Given the description of an element on the screen output the (x, y) to click on. 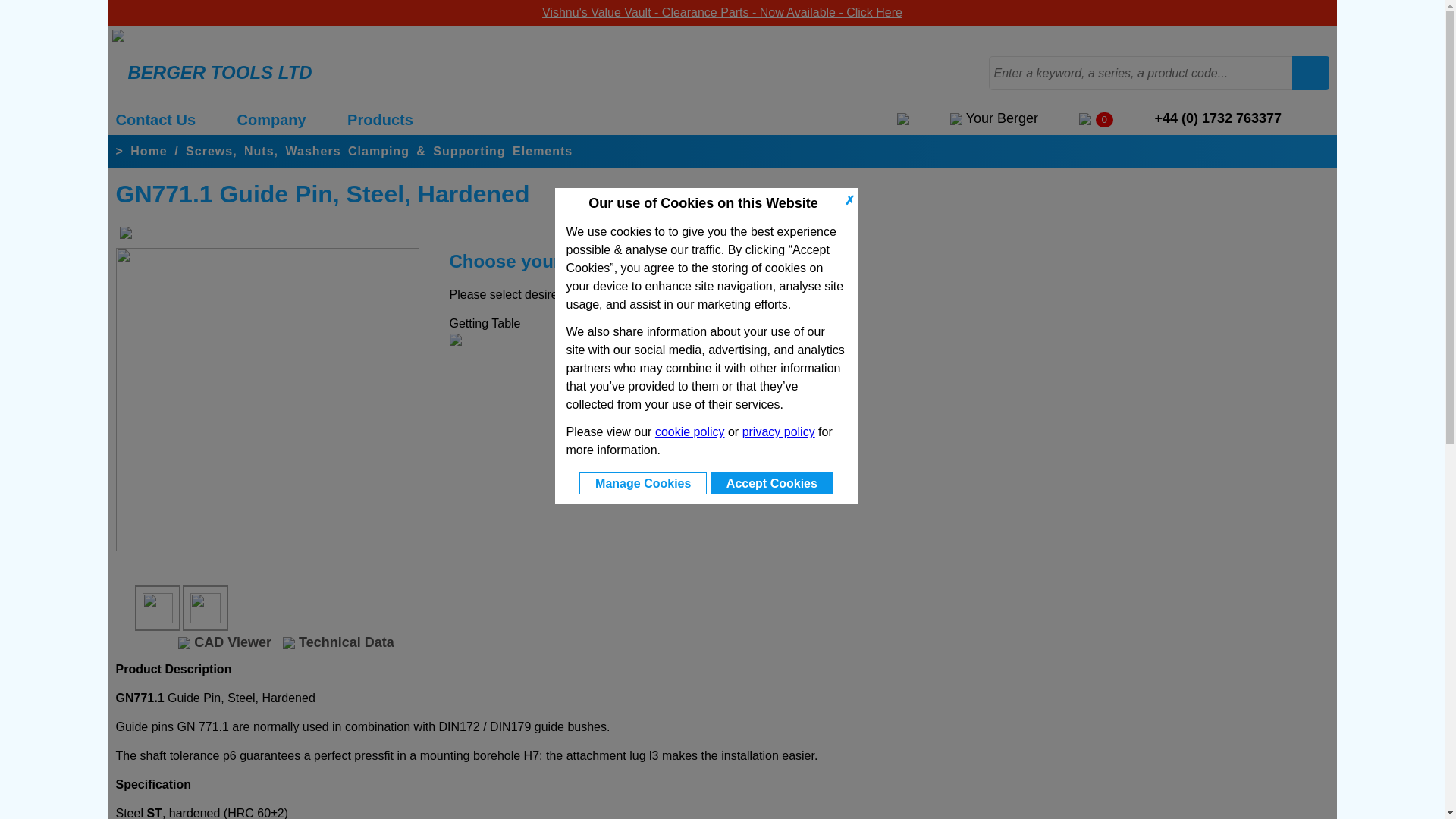
Contact Us (155, 119)
cookie policy (690, 431)
RoHs Compliant (125, 236)
Products (380, 119)
0 (1095, 118)
Contact Us - Always Happy to Help (155, 119)
Your Berger (994, 118)
Company (271, 119)
Berger Tools Huge Range of Products (380, 119)
Accept Cookies (771, 483)
Manage Cookies (642, 483)
privacy policy (778, 431)
